Given the description of an element on the screen output the (x, y) to click on. 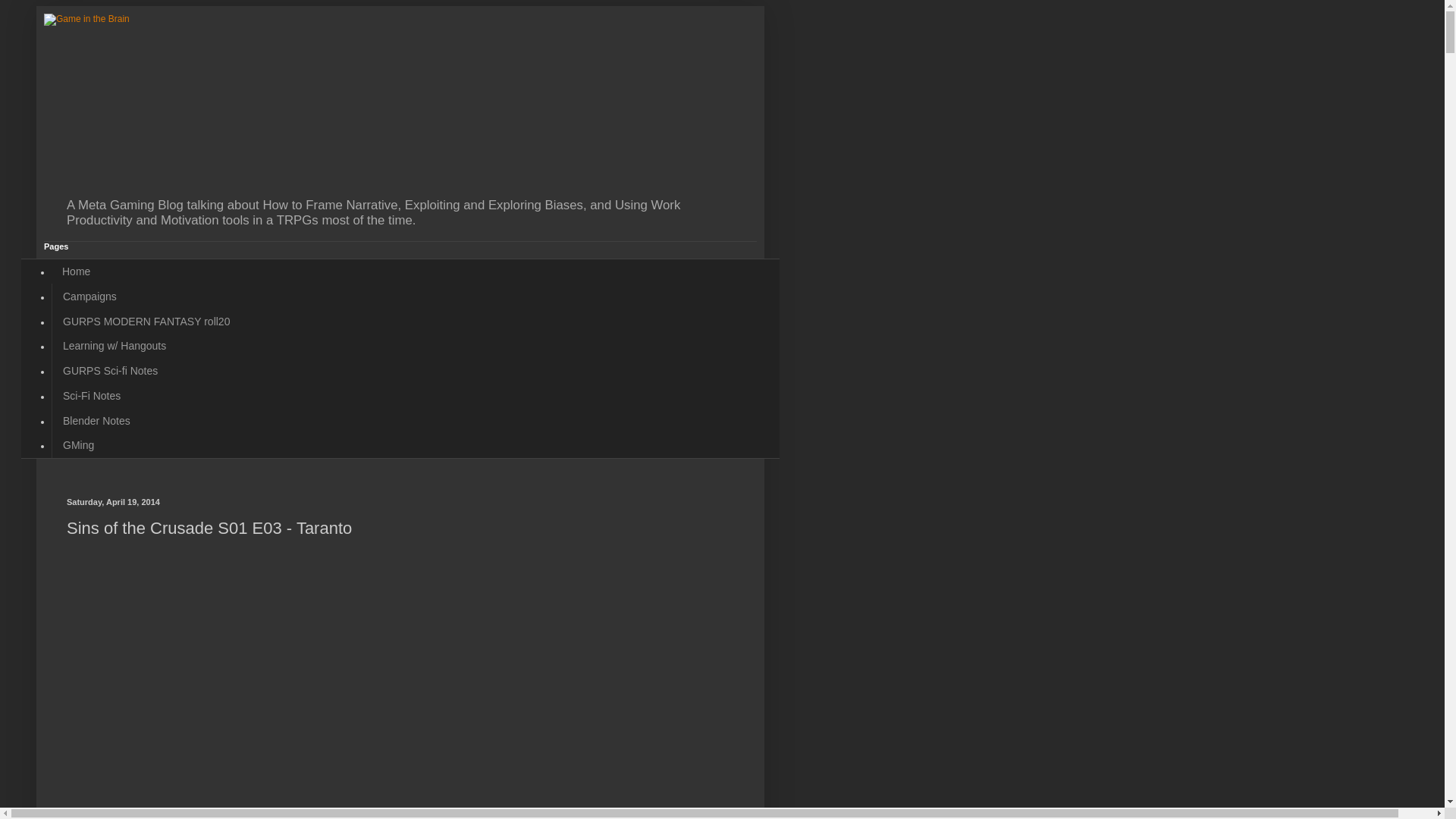
Campaigns (89, 295)
GMing (77, 445)
Home (75, 271)
Sci-Fi Notes (90, 396)
Blender Notes (95, 420)
GURPS Sci-fi Notes (109, 371)
GURPS MODERN FANTASY roll20 (145, 320)
